Given the description of an element on the screen output the (x, y) to click on. 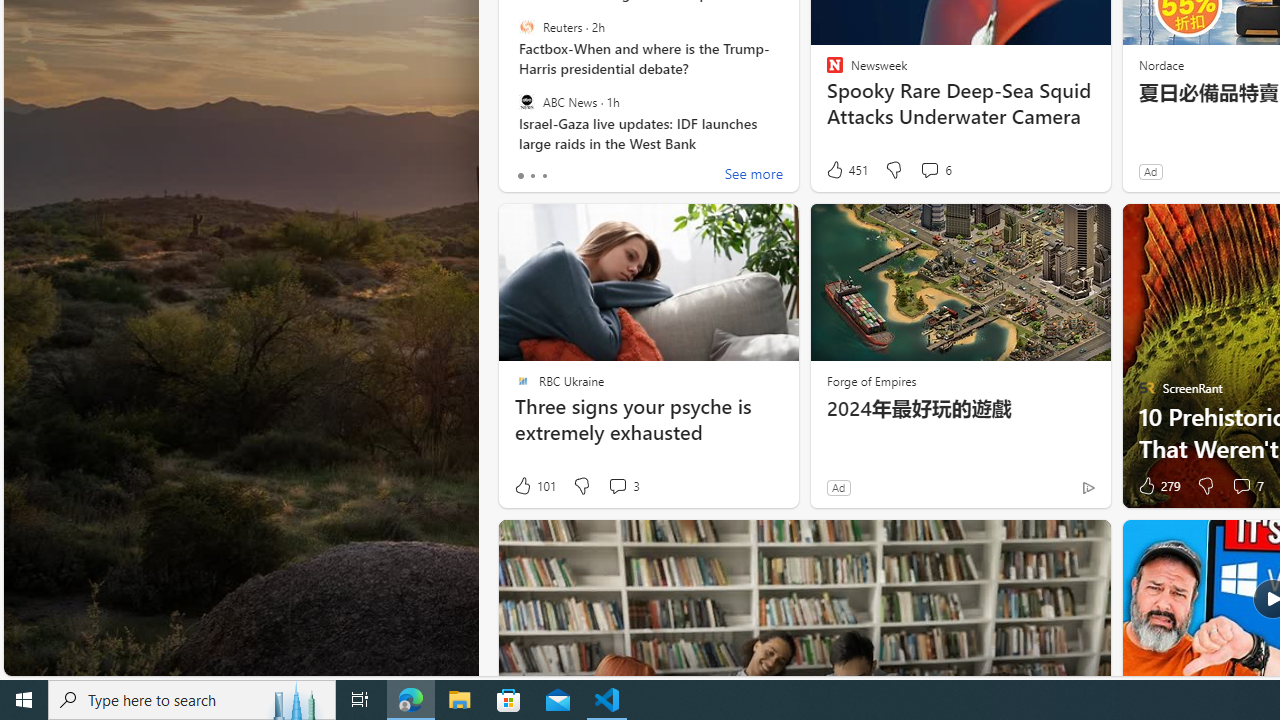
ABC News (526, 101)
tab-1 (532, 175)
451 Like (845, 170)
Nordace (1160, 64)
See more (753, 175)
Ad Choice (1087, 487)
tab-0 (520, 175)
Forge of Empires (870, 380)
View comments 7 Comment (1247, 485)
279 Like (1157, 485)
View comments 3 Comment (623, 485)
View comments 6 Comment (935, 170)
View comments 6 Comment (929, 169)
